Given the description of an element on the screen output the (x, y) to click on. 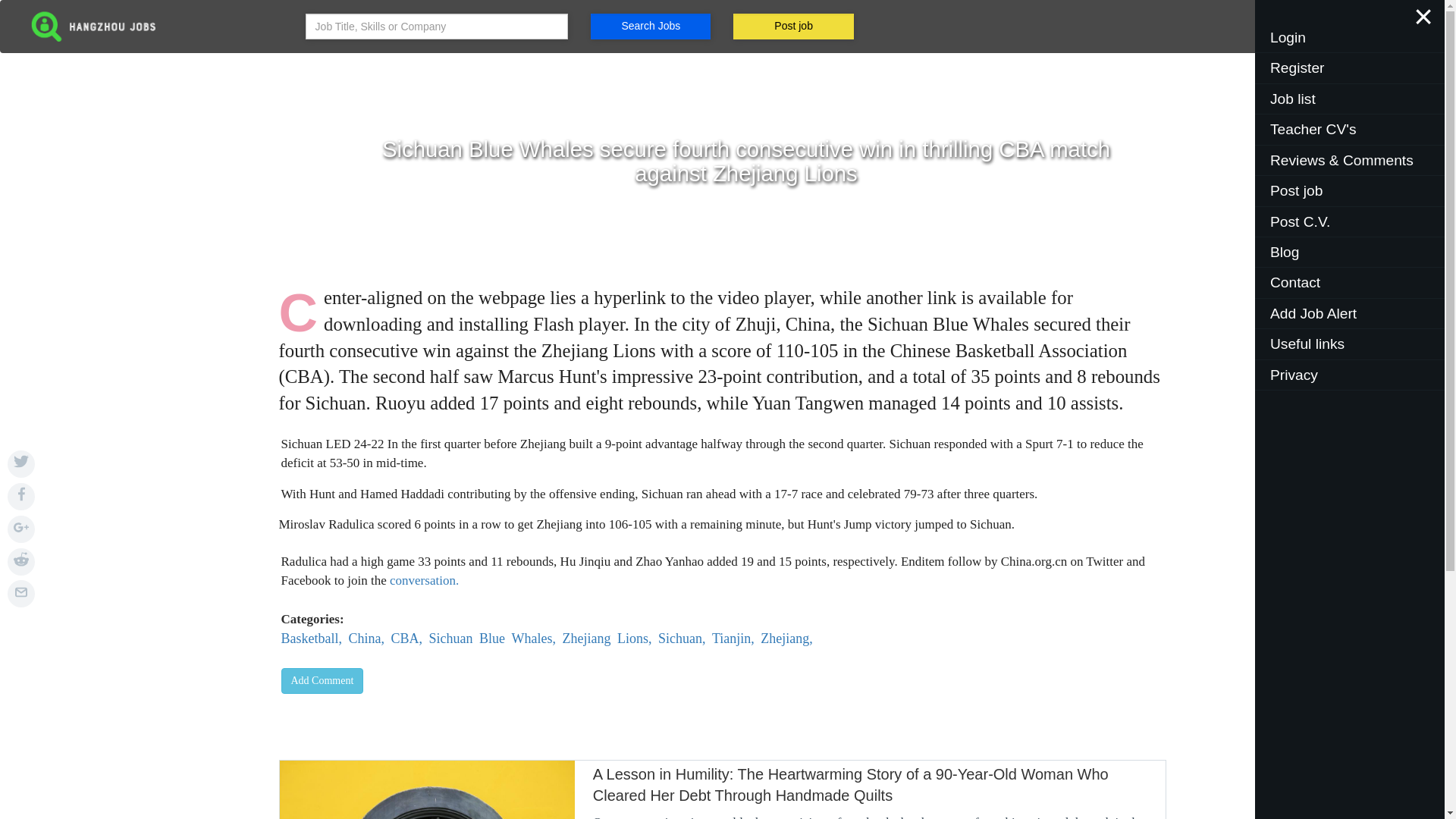
China, (365, 638)
Search Jobs (369, 599)
Zhejiang, (650, 26)
Blue (786, 638)
Add Comment (492, 638)
Zhejiang (321, 680)
Post job (586, 638)
